Given the description of an element on the screen output the (x, y) to click on. 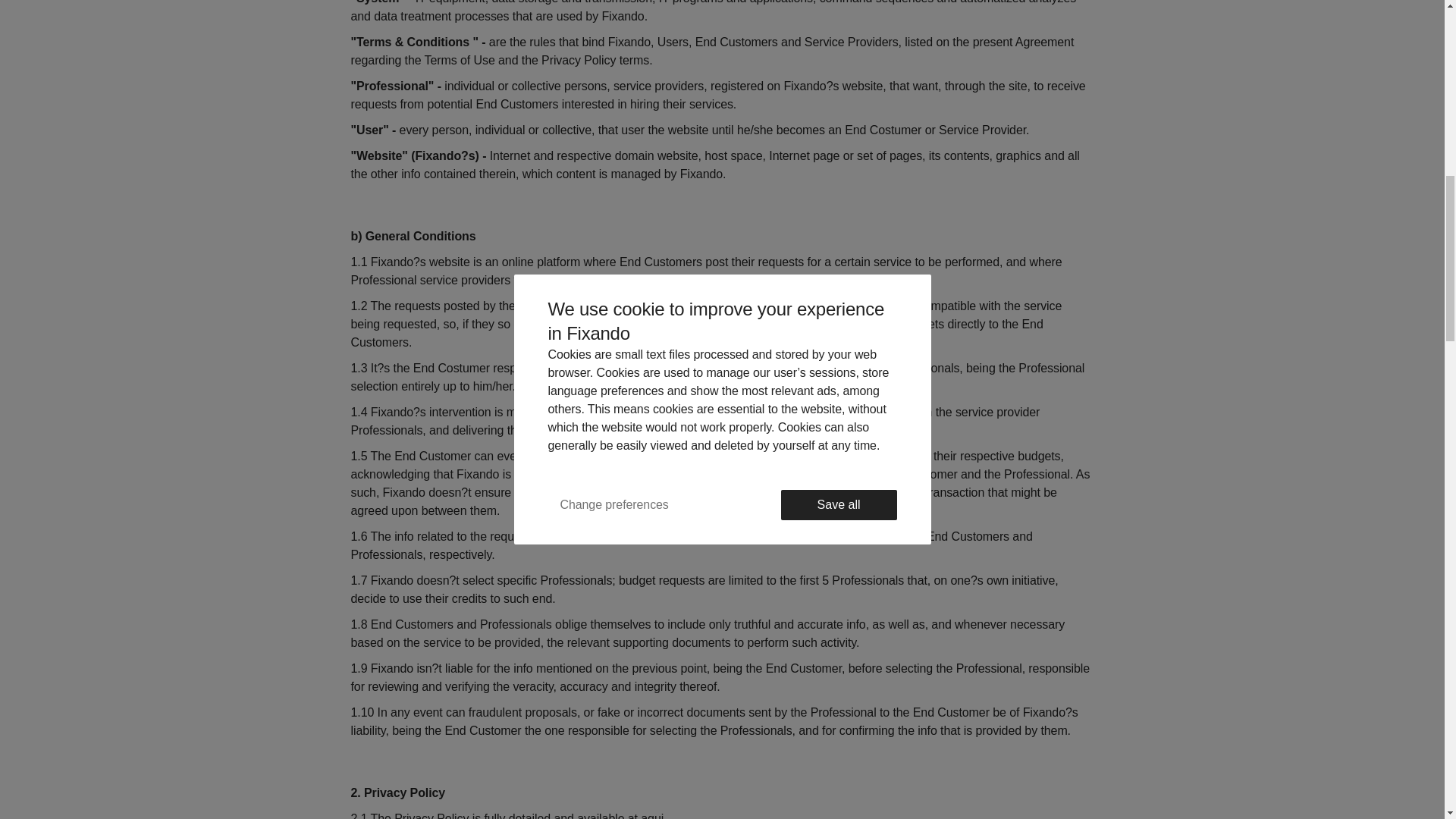
aqui (651, 815)
